Given the description of an element on the screen output the (x, y) to click on. 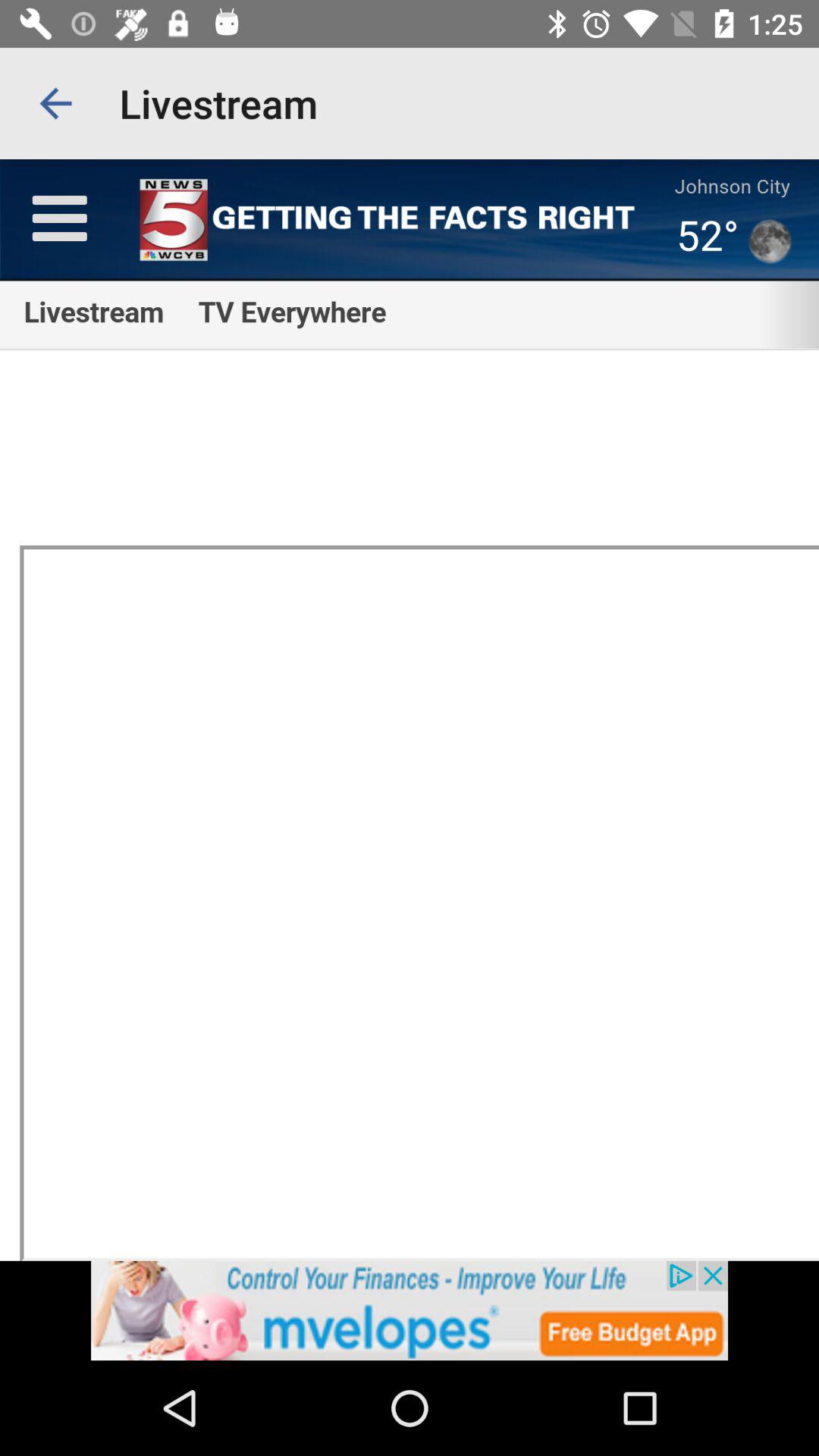
go to the advertising website (409, 1310)
